Given the description of an element on the screen output the (x, y) to click on. 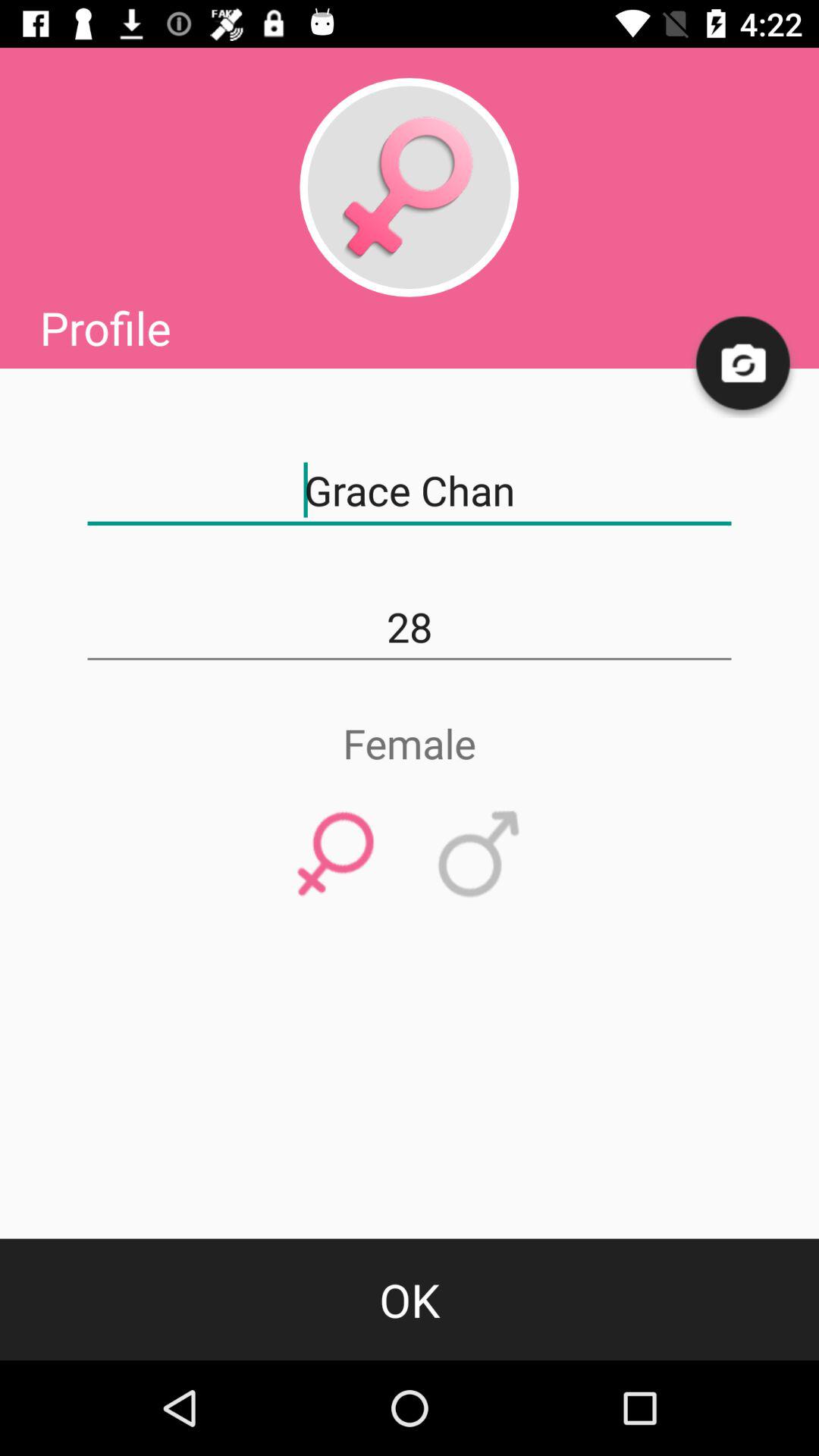
toggle identify gender option (335, 854)
